Given the description of an element on the screen output the (x, y) to click on. 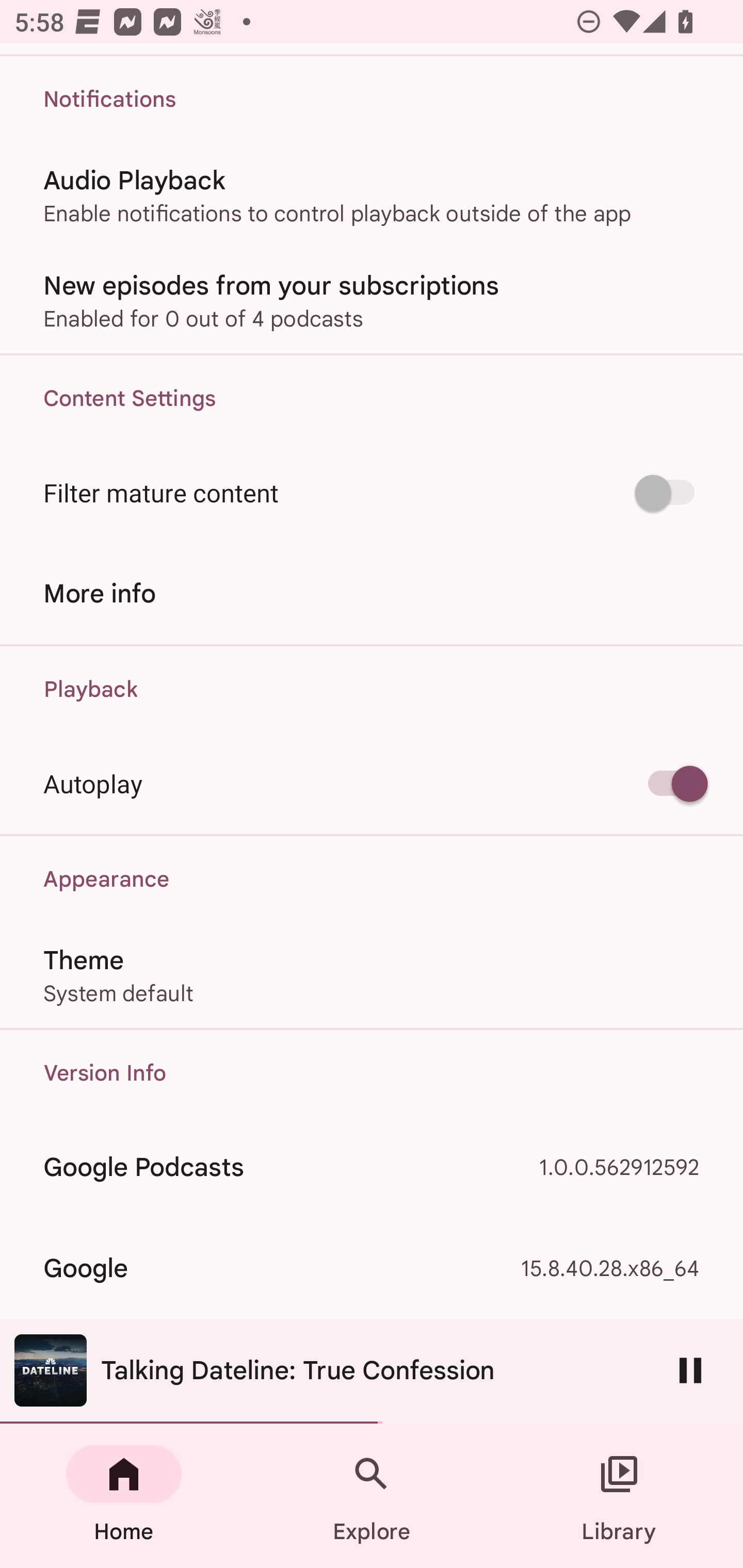
More info (371, 593)
Autoplay (371, 783)
Theme System default (371, 974)
Google Podcasts 1.0.0.562912592 (371, 1167)
Google 15.8.40.28.x86_64 (371, 1268)
Pause (690, 1370)
Explore (371, 1495)
Library (619, 1495)
